Given the description of an element on the screen output the (x, y) to click on. 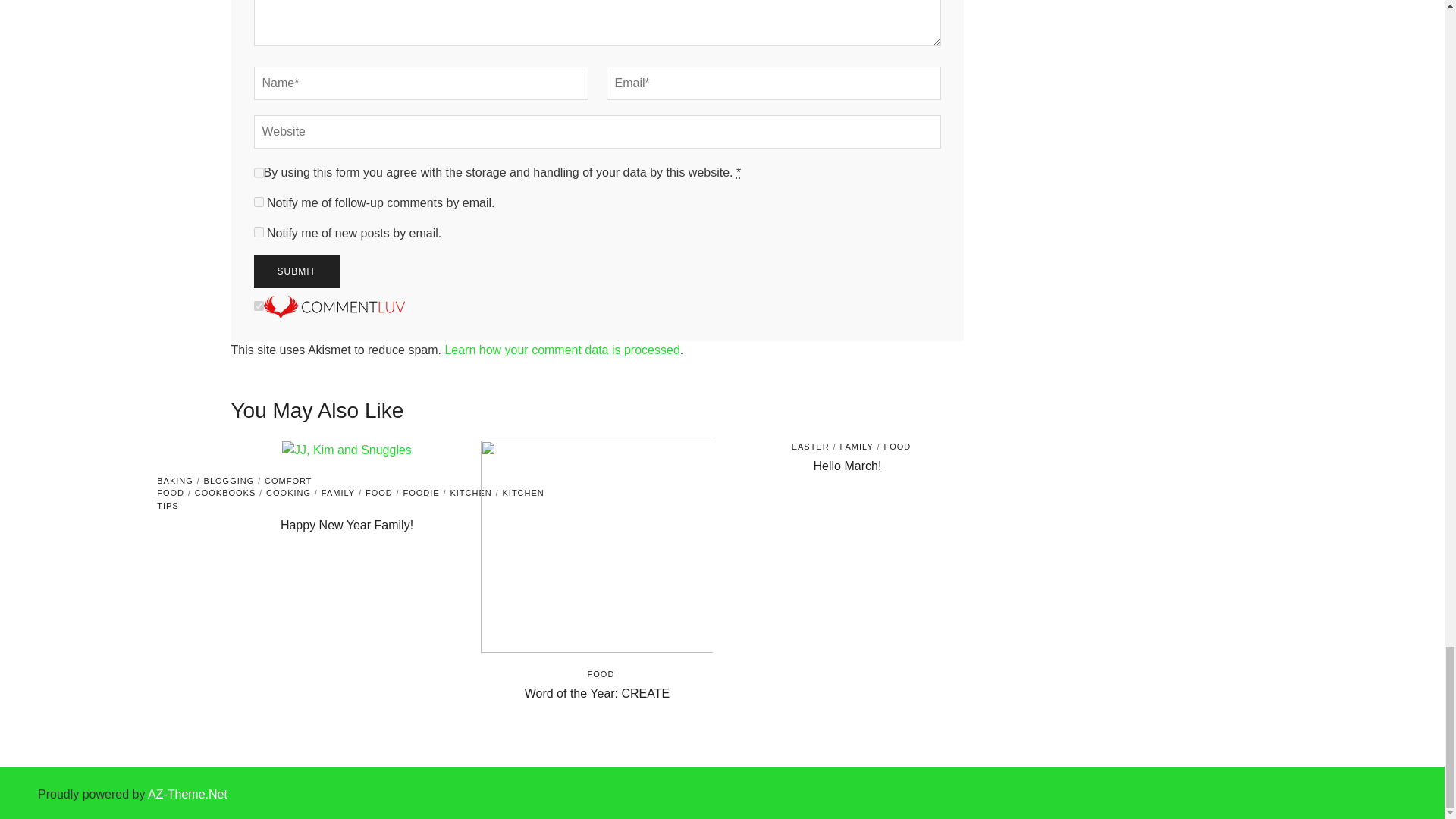
subscribe (258, 232)
on (258, 306)
subscribe (258, 202)
Submit (296, 271)
